Given the description of an element on the screen output the (x, y) to click on. 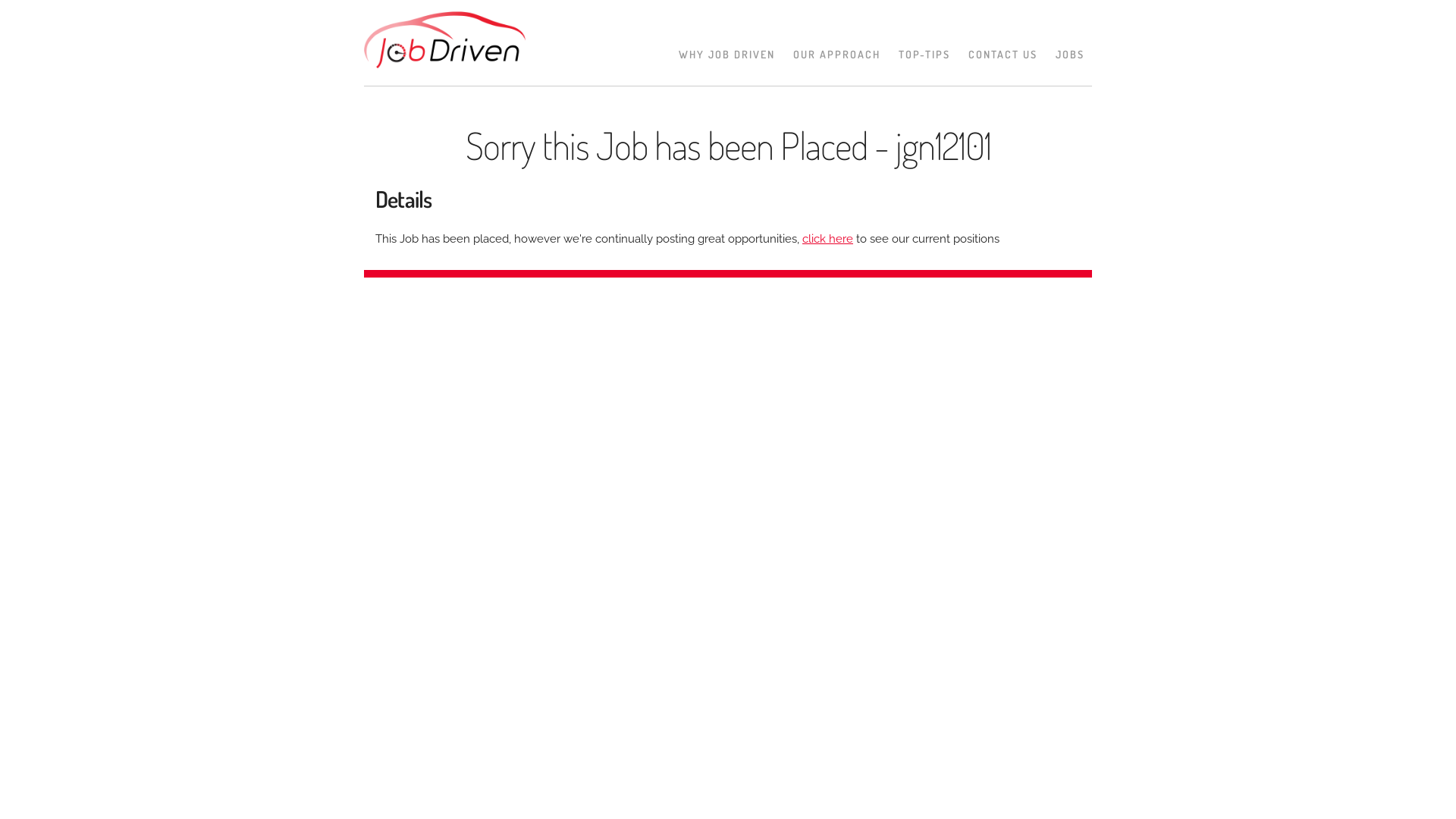
JOBS Element type: text (1069, 53)
CONTACT US Element type: text (1002, 53)
WHY JOB DRIVEN Element type: text (726, 53)
Sorry this Job has been Placed - jgn12101 Element type: text (728, 145)
TOP-TIPS Element type: text (924, 53)
OUR APPROACH Element type: text (836, 53)
click here Element type: text (827, 238)
